Given the description of an element on the screen output the (x, y) to click on. 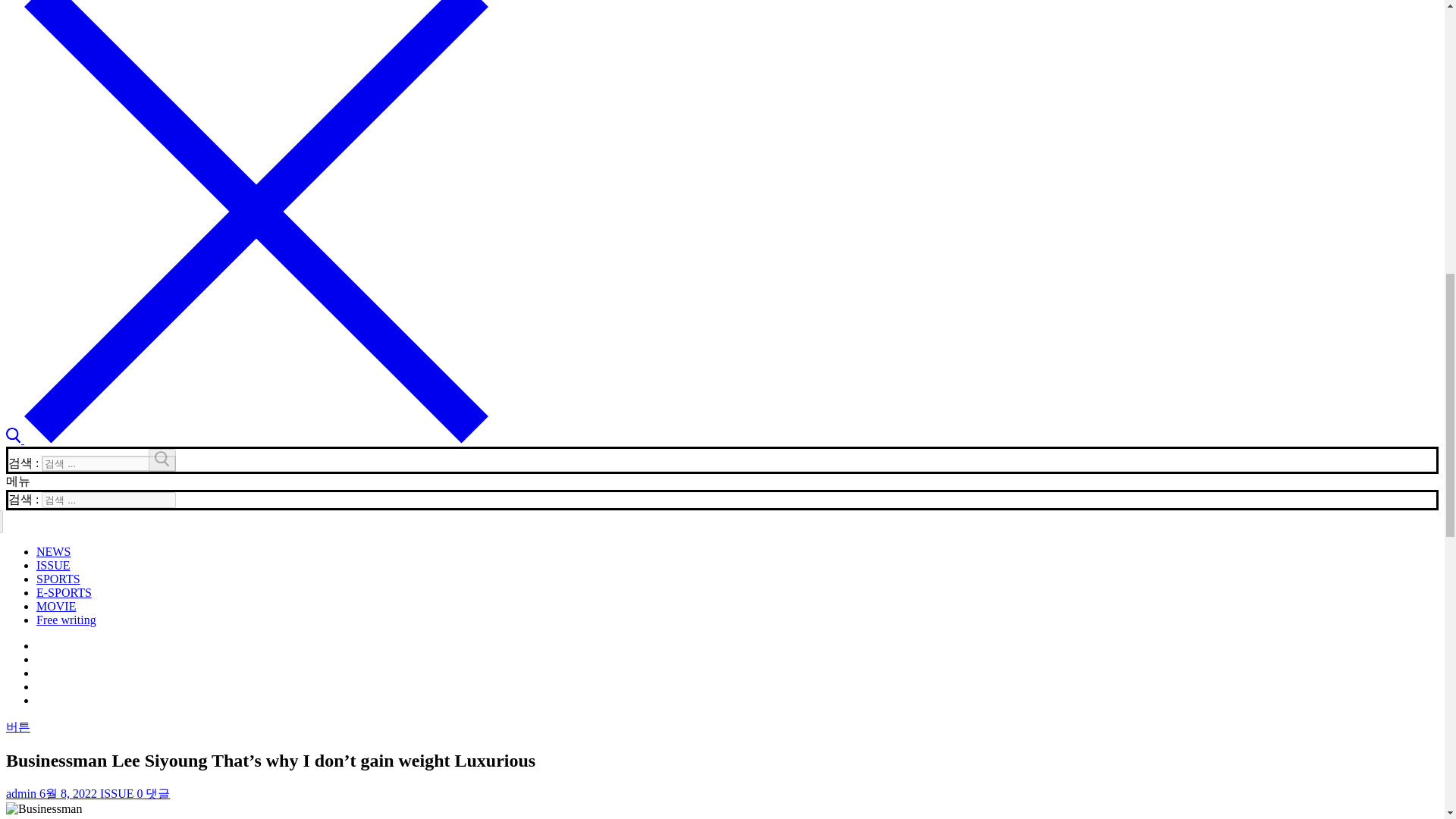
E-SPORTS (63, 592)
admin (20, 793)
MOVIE (55, 605)
Free writing (66, 619)
SPORTS (58, 578)
ISSUE (52, 564)
ISSUE (115, 793)
NEWS (52, 551)
